Given the description of an element on the screen output the (x, y) to click on. 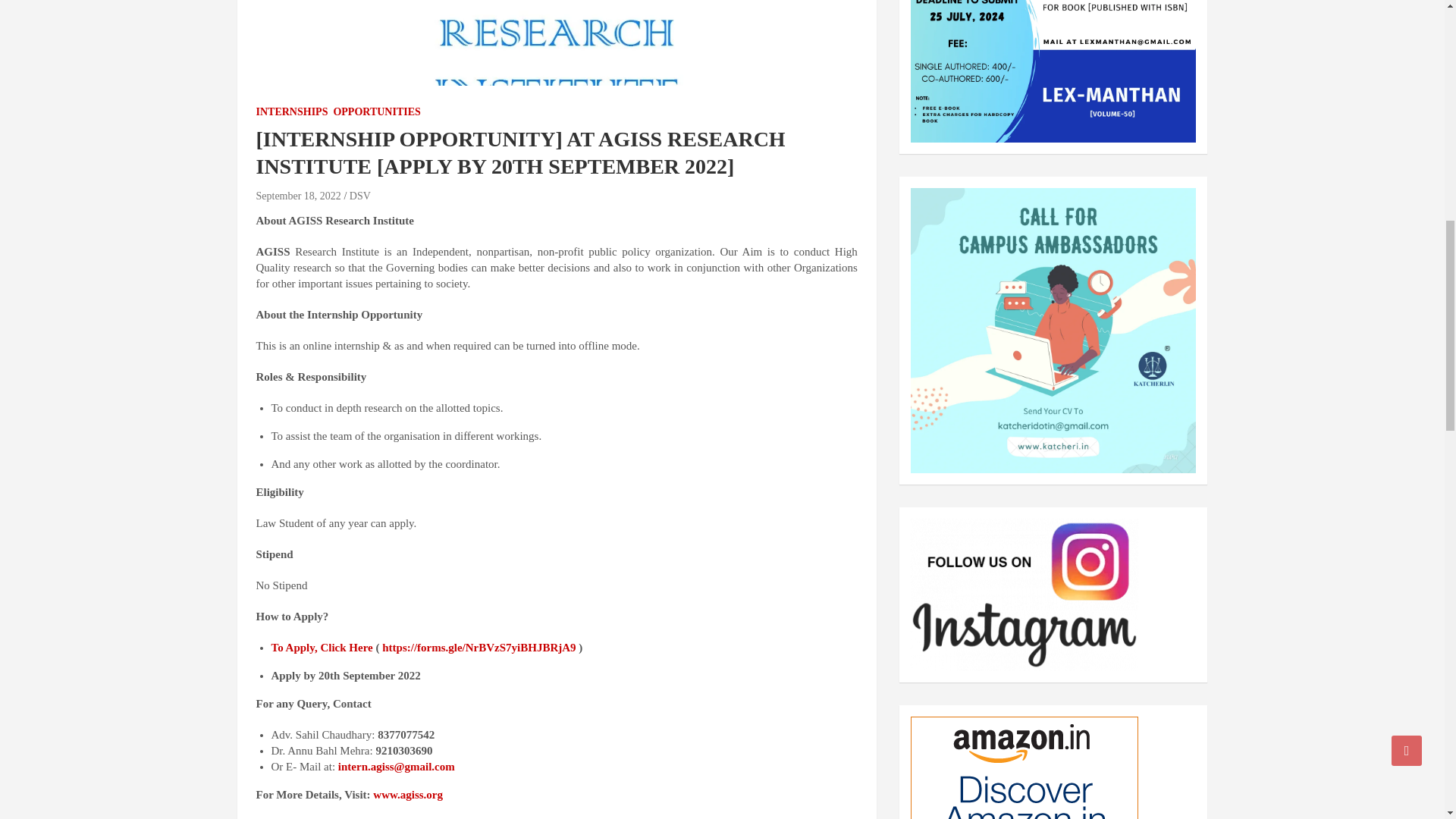
September 18, 2022 (298, 195)
OPPORTUNITIES (376, 111)
DSV (360, 195)
INTERNSHIPS (292, 111)
